Given the description of an element on the screen output the (x, y) to click on. 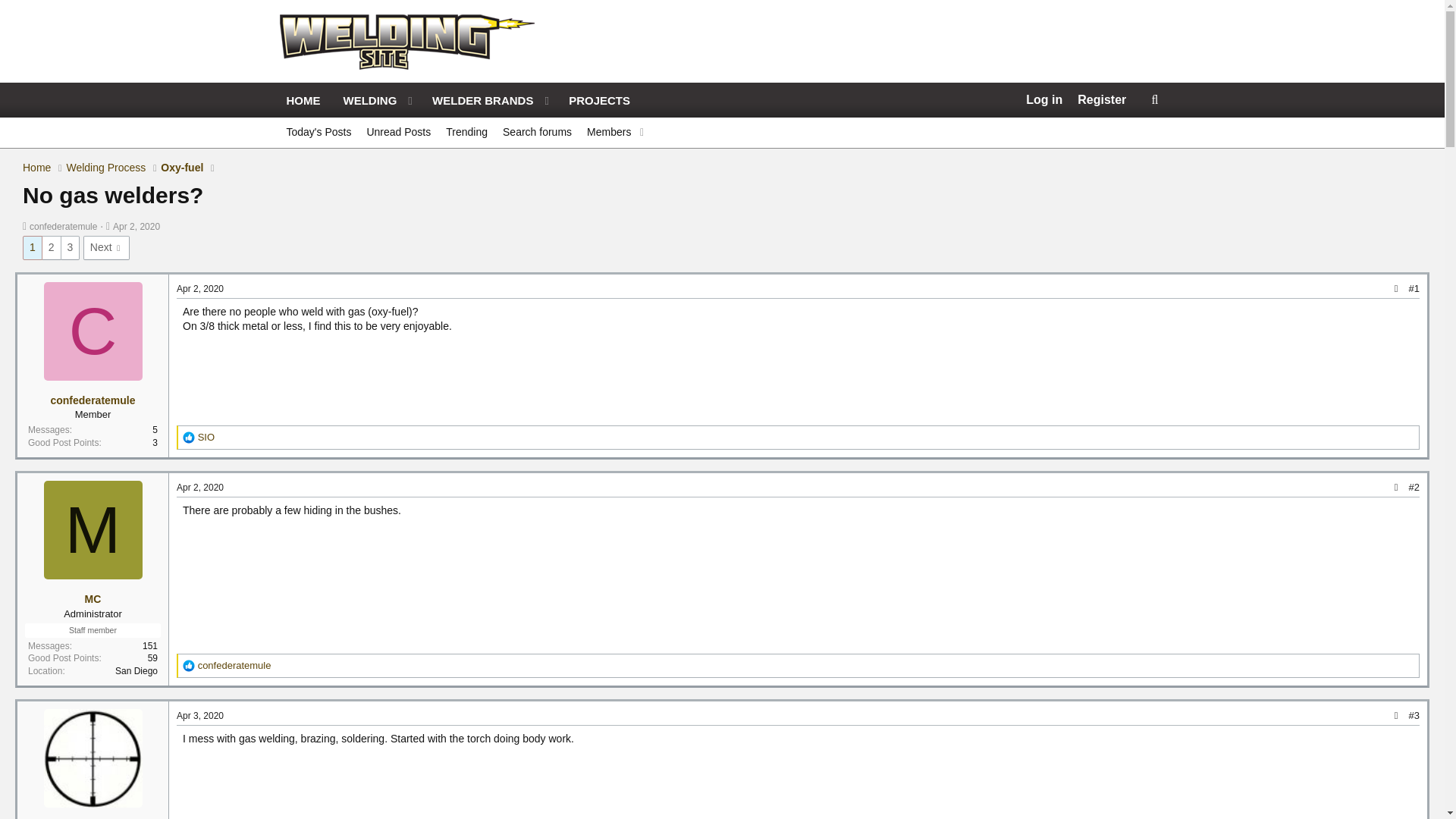
Apr 2, 2020 at 5:59 PM (136, 226)
Apr 2, 2020 at 5:59 PM (457, 117)
Unread Posts (200, 288)
Apr 3, 2020 at 6:12 AM (398, 132)
Members (200, 715)
Today's Posts (606, 132)
Log in (721, 149)
